Given the description of an element on the screen output the (x, y) to click on. 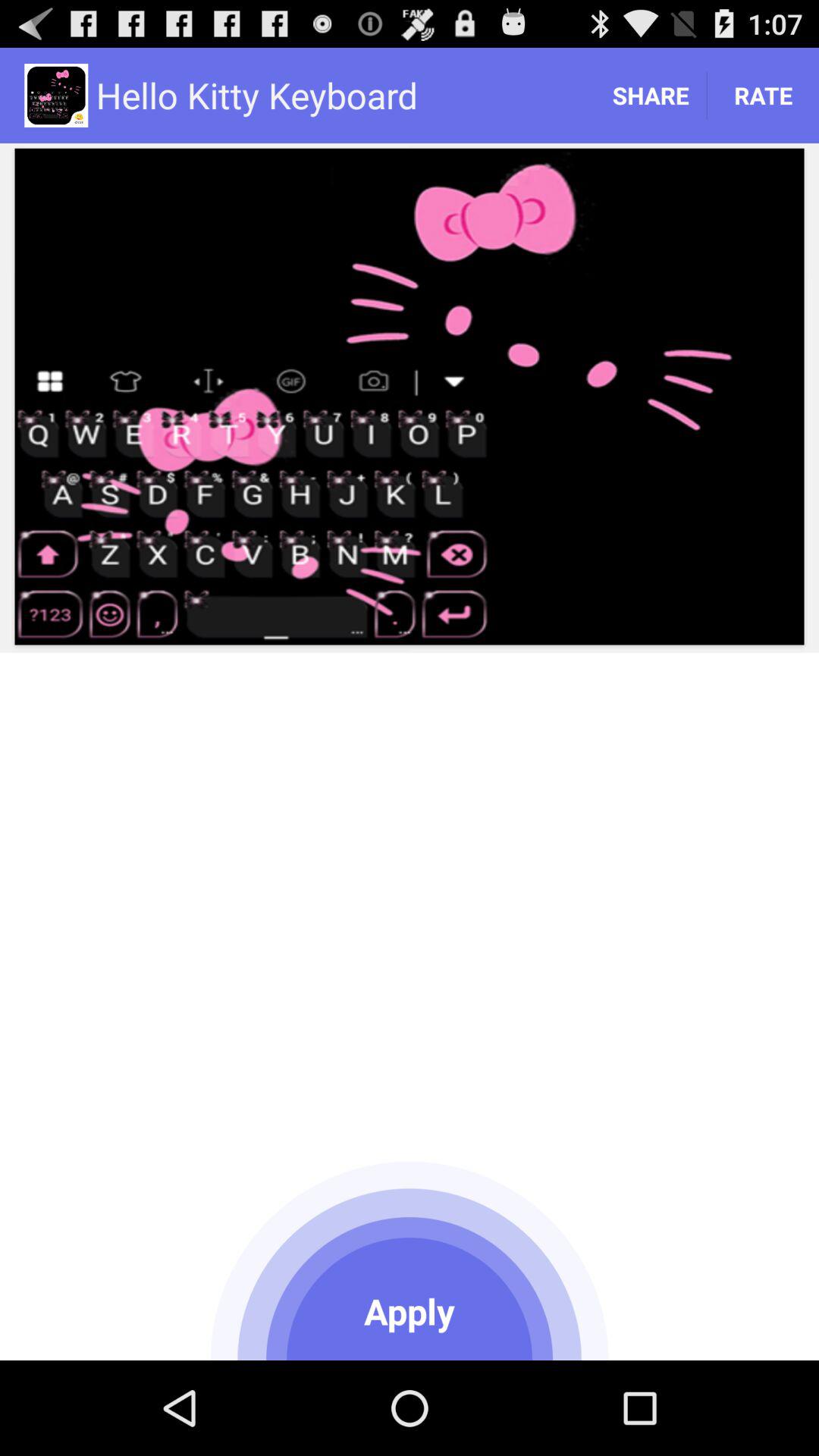
turn on rate (763, 95)
